Given the description of an element on the screen output the (x, y) to click on. 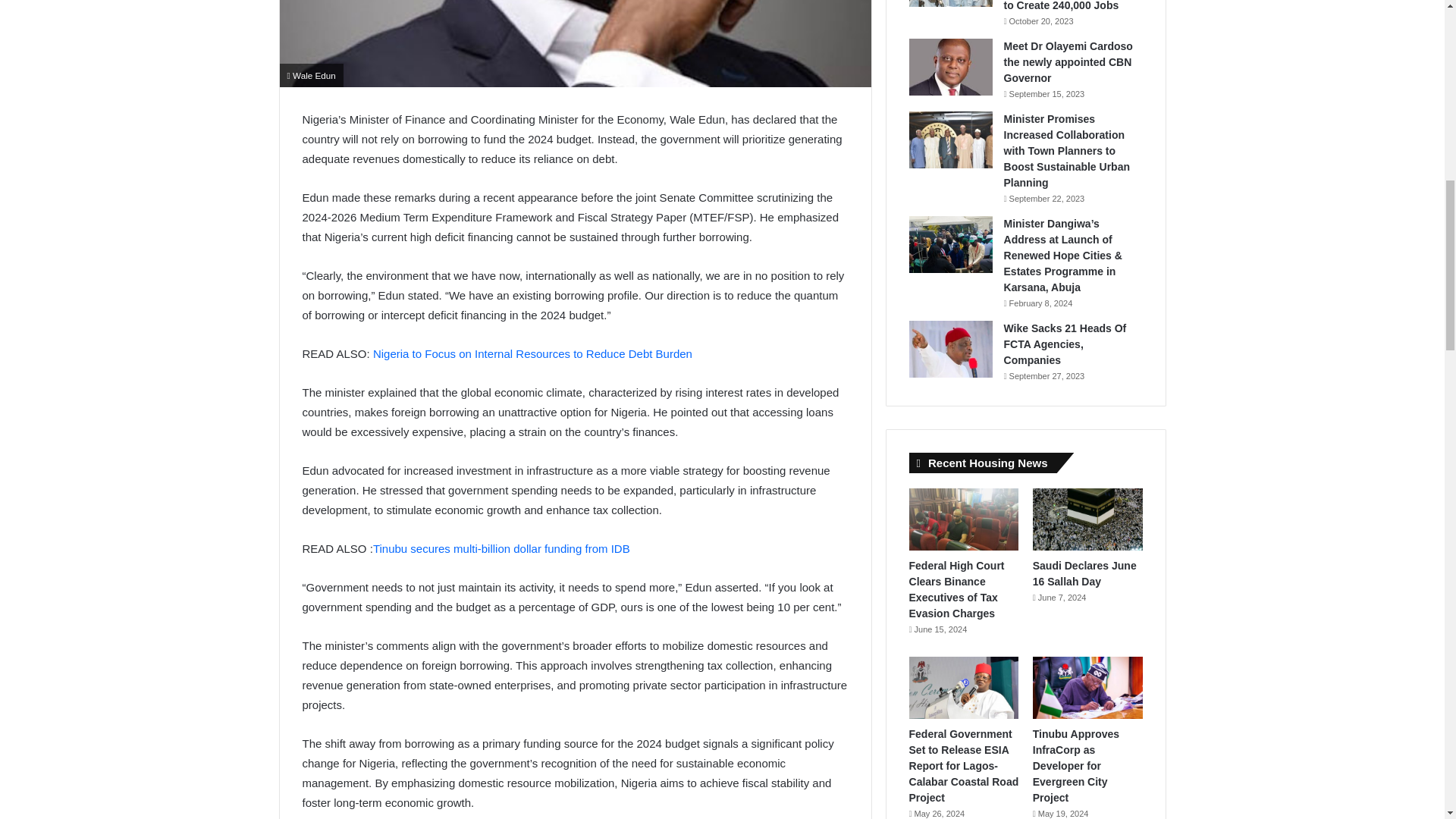
Nigeria to Focus on Internal Resources to Reduce Debt Burden (532, 353)
Tinubu secures multi-billion dollar funding from IDB (501, 548)
